Given the description of an element on the screen output the (x, y) to click on. 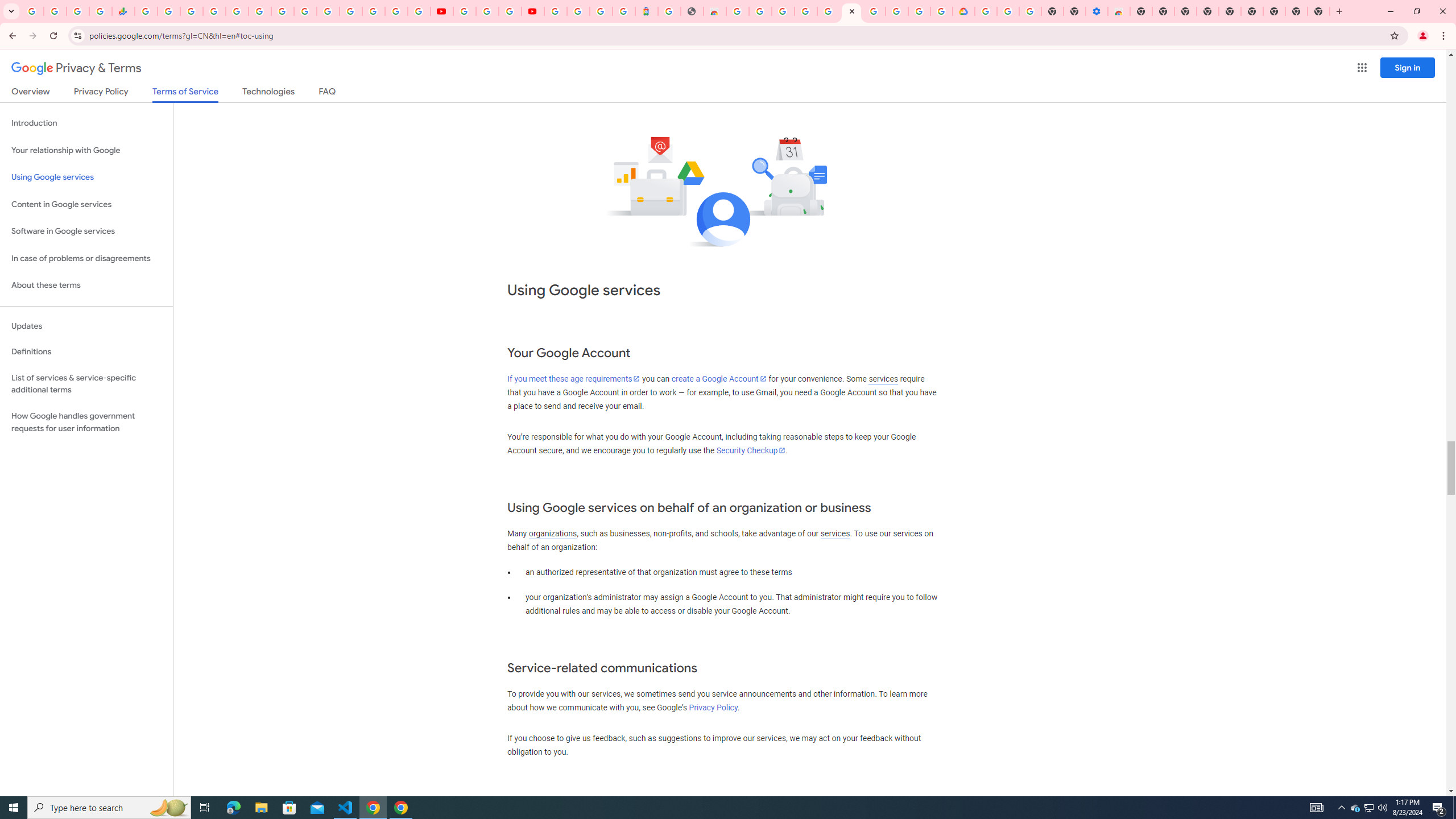
Chrome Web Store - Household (714, 11)
List of services & service-specific additional terms (86, 383)
If you meet these age requirements (573, 378)
Settings - Accessibility (1096, 11)
Sign in - Google Accounts (373, 11)
Android TV Policies and Guidelines - Transparency Center (282, 11)
New Tab (1319, 11)
